Given the description of an element on the screen output the (x, y) to click on. 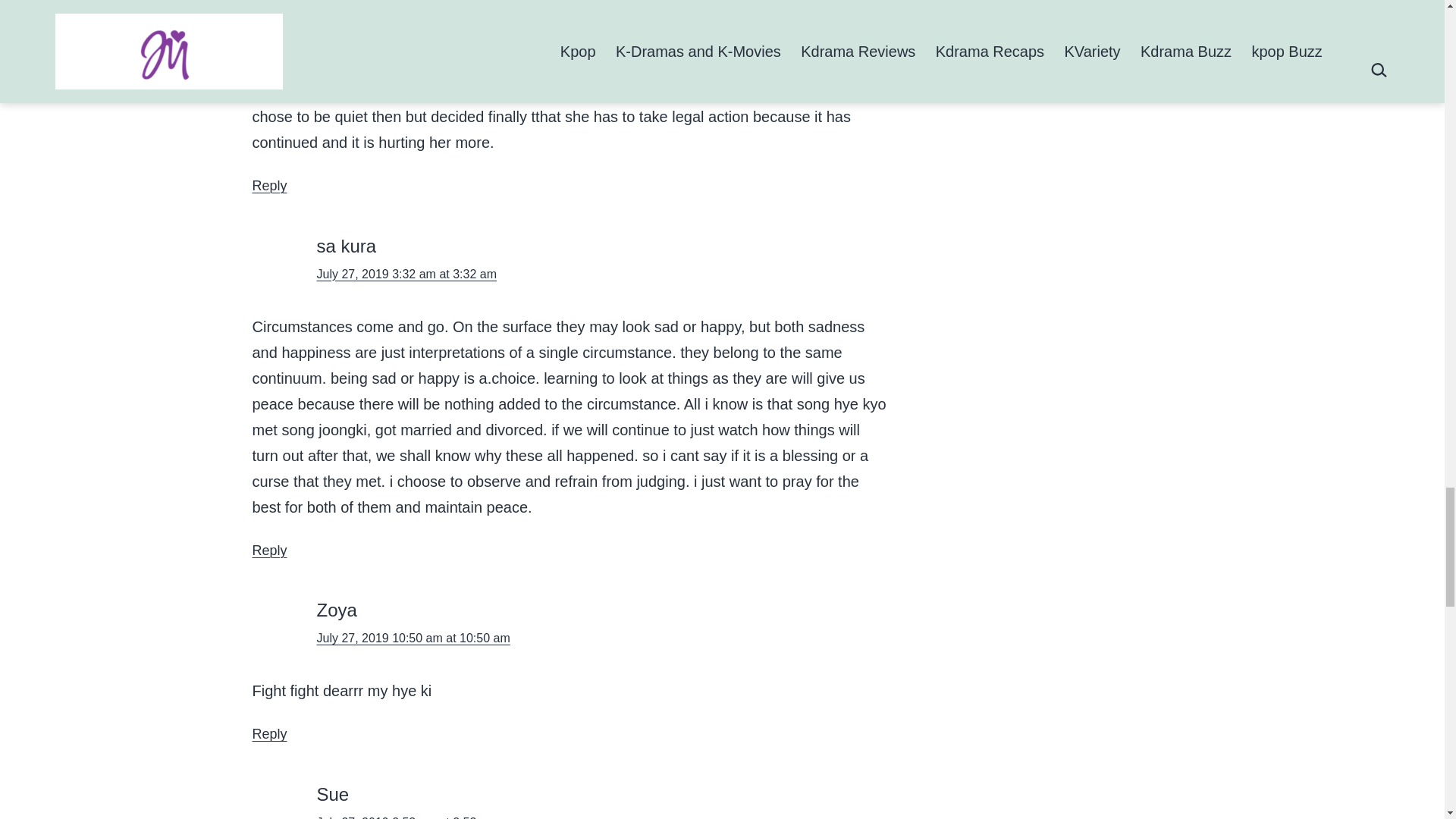
July 27, 2019 10:50 am at 10:50 am (414, 637)
Reply (268, 549)
July 27, 2019 2:53 pm at 2:53 pm (406, 817)
Reply (268, 185)
July 27, 2019 3:32 am at 3:32 am (406, 273)
Reply (268, 734)
